Given the description of an element on the screen output the (x, y) to click on. 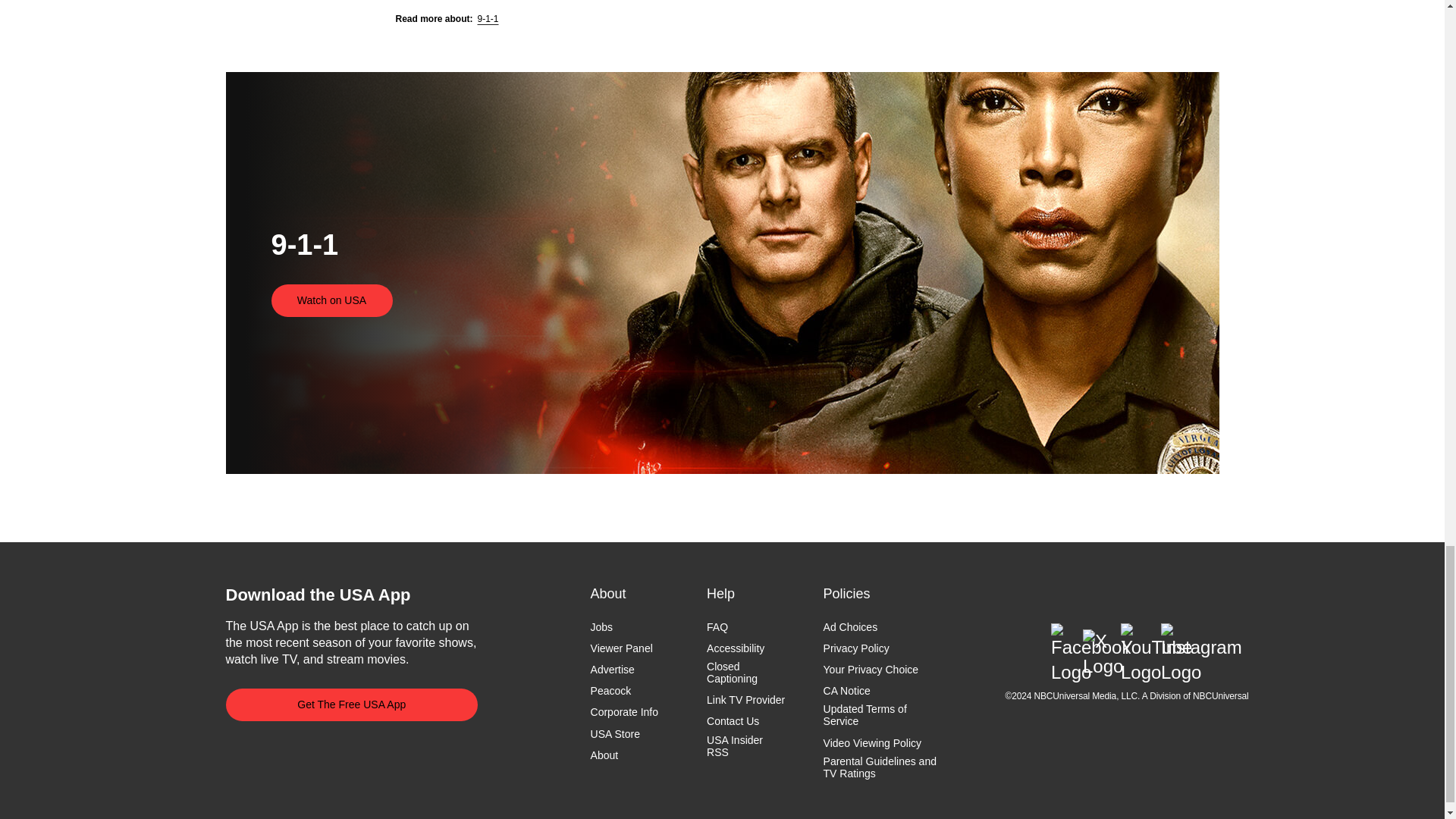
Jobs (601, 626)
Peacock (611, 690)
Viewer Panel (621, 648)
Advertise (612, 669)
Watch on USA (331, 300)
9-1-1 (488, 18)
Get The Free USA App (352, 704)
